Given the description of an element on the screen output the (x, y) to click on. 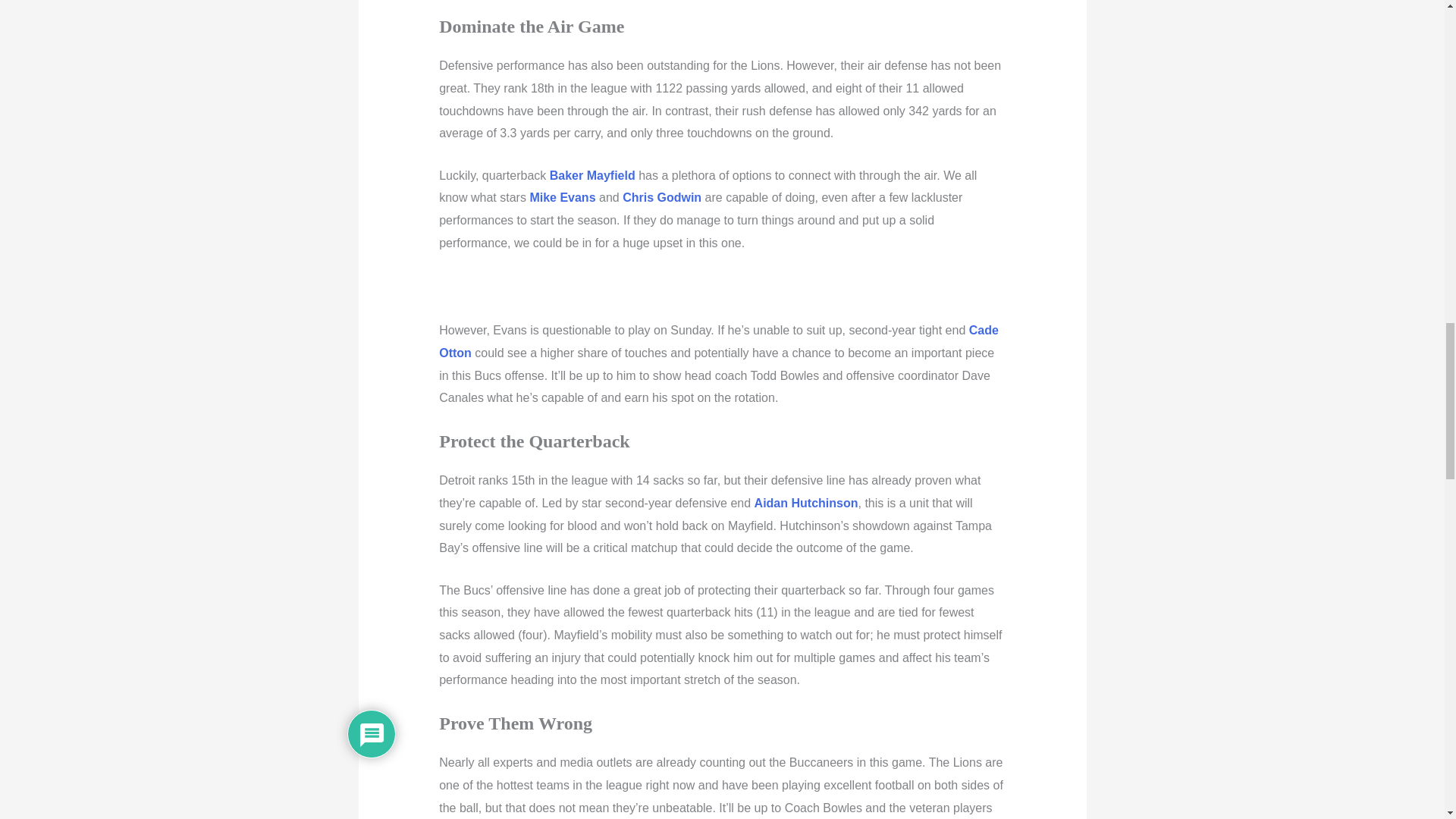
Chris Godwin (662, 196)
Baker Mayfield (592, 174)
Mike Evans (562, 196)
Aidan Hutchinson (806, 502)
Cade Otton (718, 341)
